Given the description of an element on the screen output the (x, y) to click on. 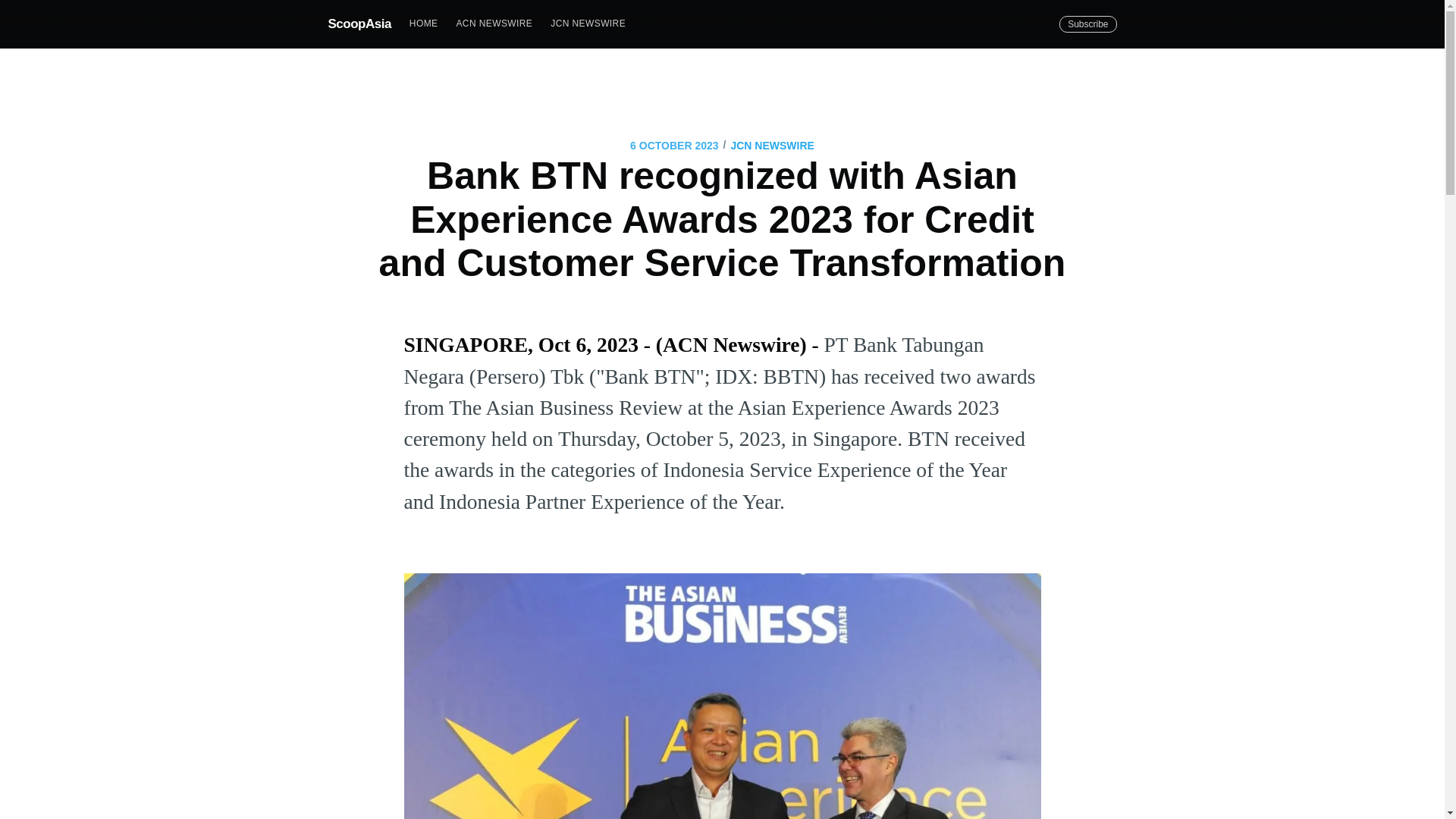
HOME (423, 23)
JCN NEWSWIRE (587, 23)
ACN NEWSWIRE (493, 23)
JCN NEWSWIRE (771, 145)
ScoopAsia (358, 23)
Subscribe (1087, 23)
